Given the description of an element on the screen output the (x, y) to click on. 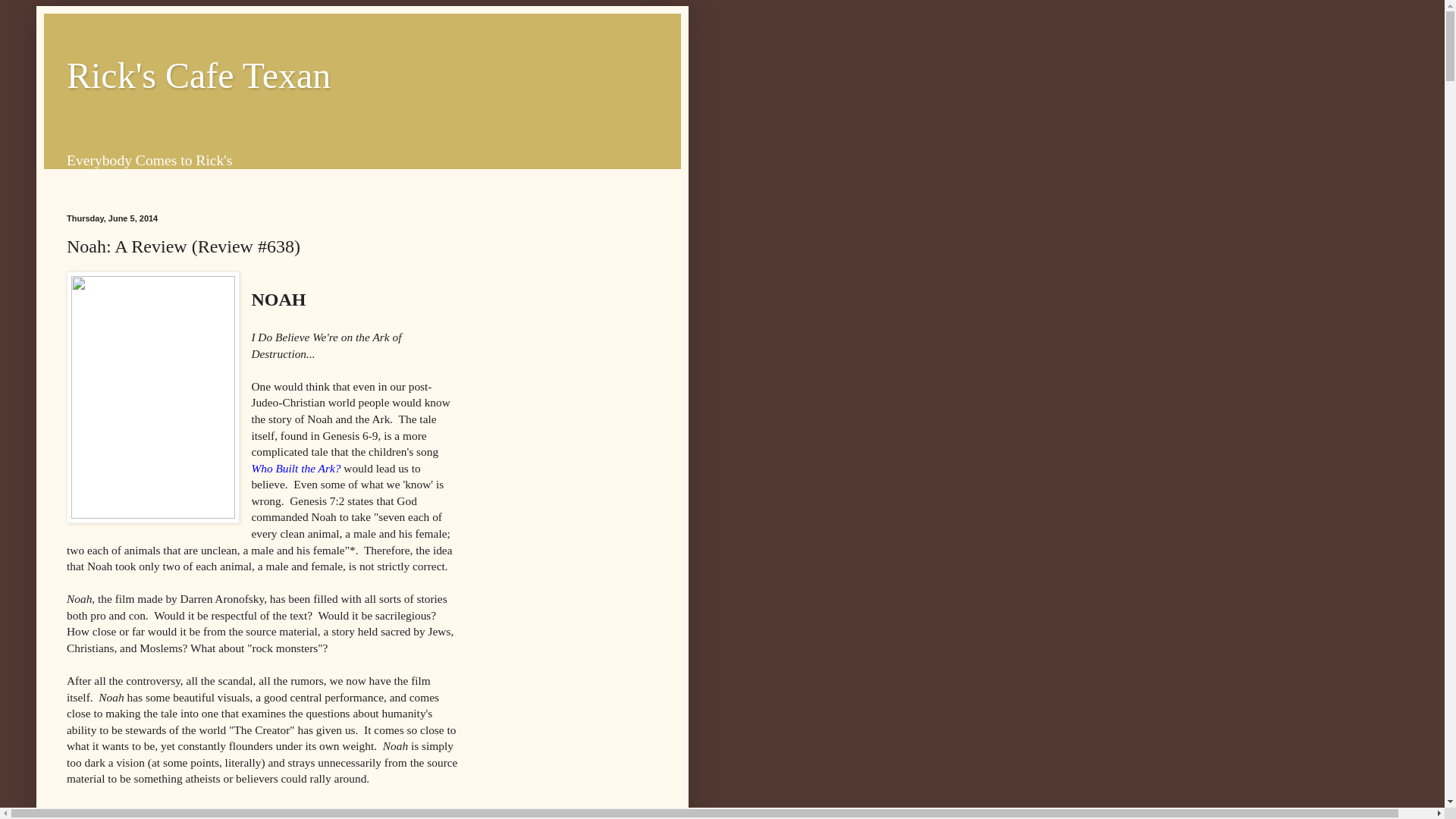
Rick's Cafe Texan (198, 75)
